Given the description of an element on the screen output the (x, y) to click on. 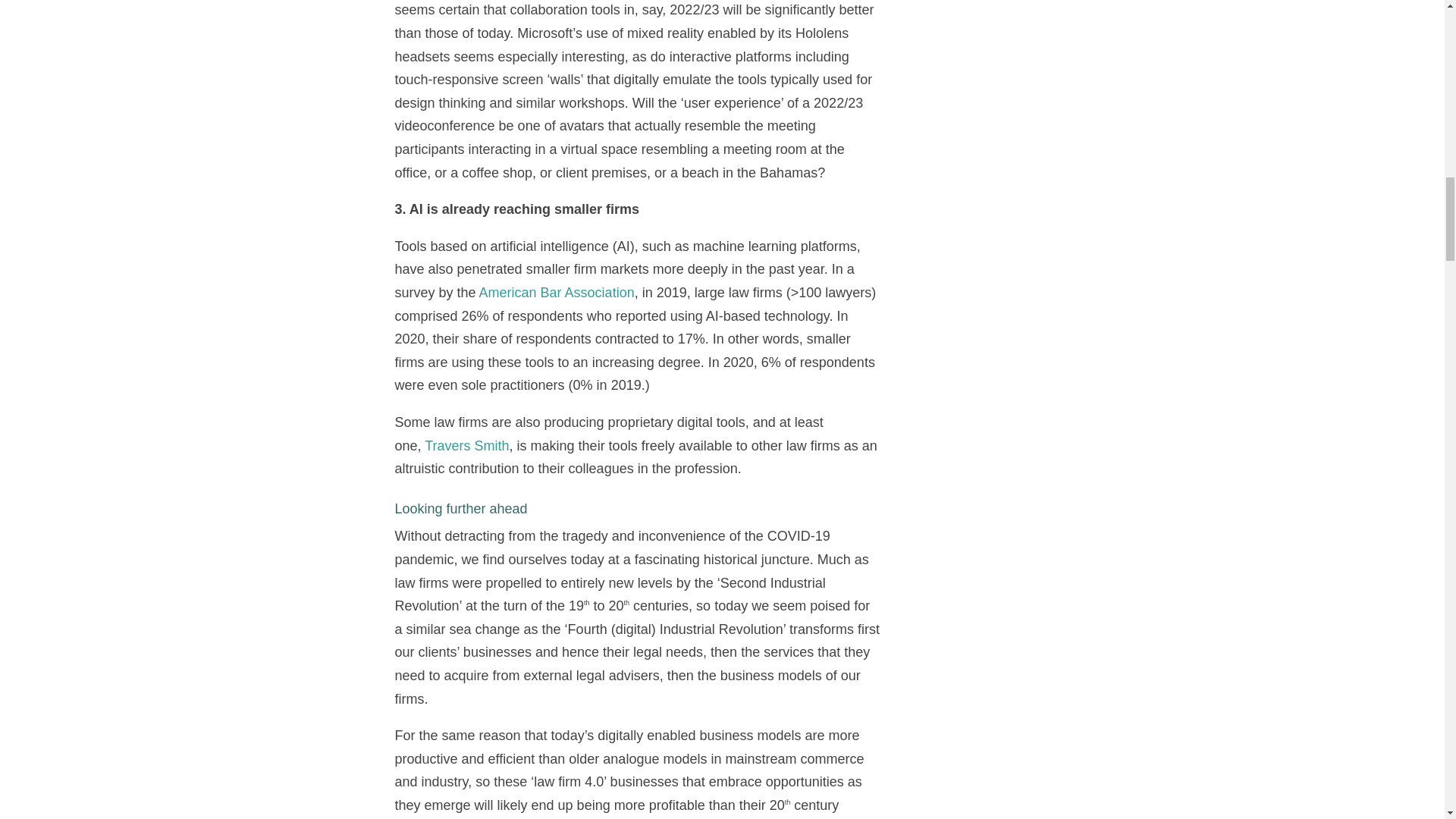
American Bar Association (556, 292)
Travers Smith (466, 445)
